Given the description of an element on the screen output the (x, y) to click on. 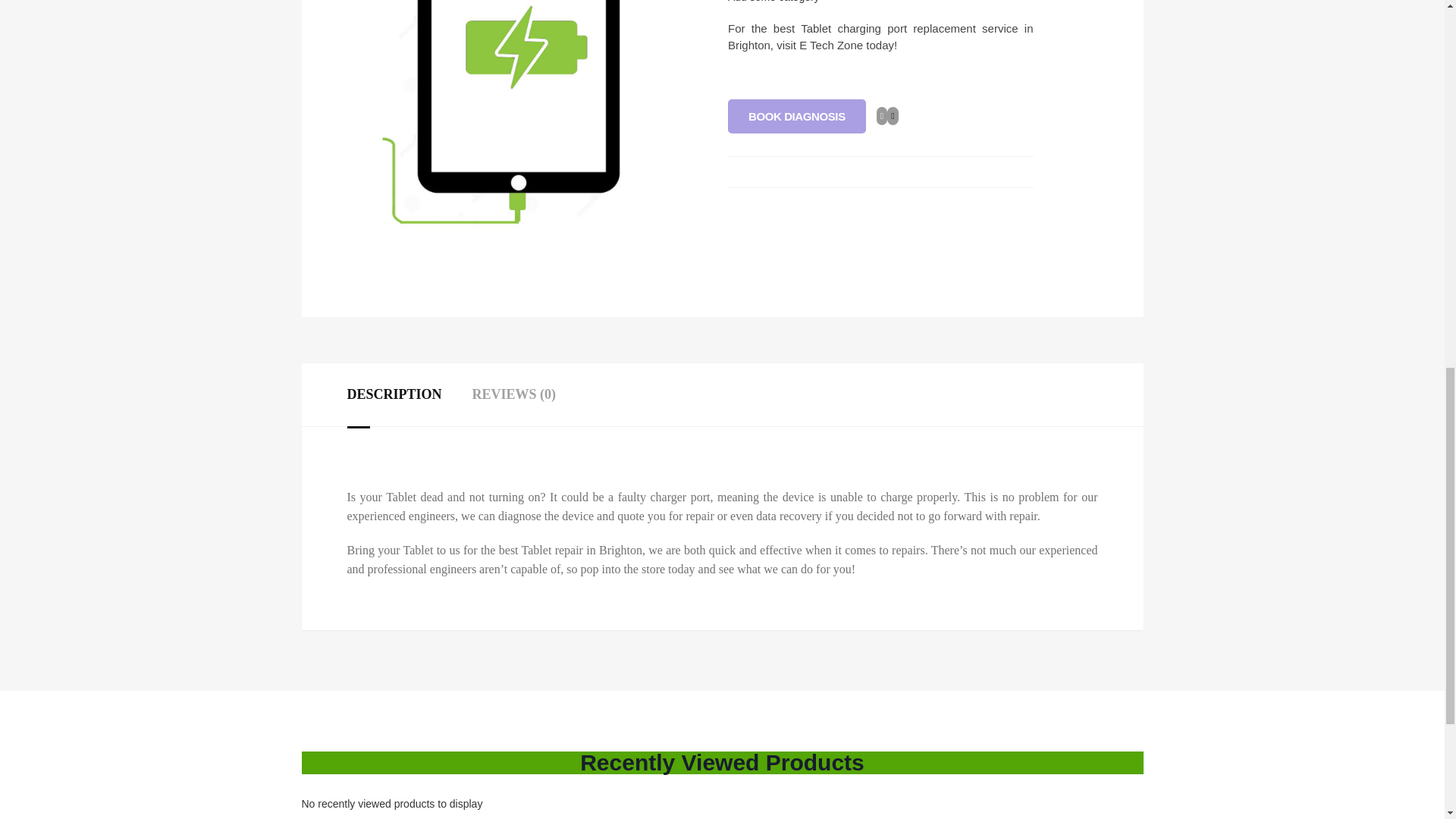
DESCRIPTION (394, 393)
BOOK DIAGNOSIS (797, 116)
